Given the description of an element on the screen output the (x, y) to click on. 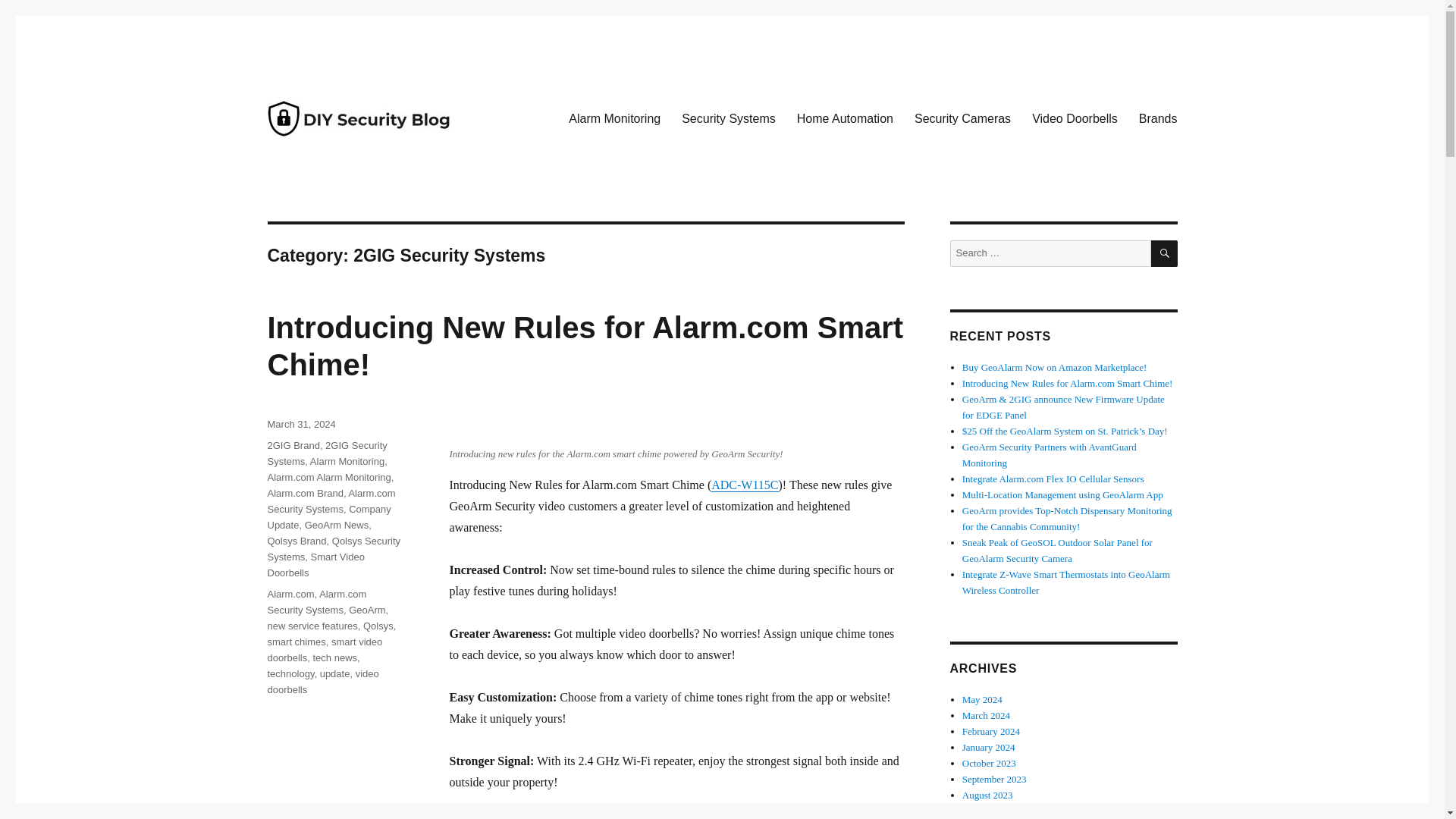
Video Doorbells (1075, 119)
Qolsys Security Systems (333, 548)
March 31, 2024 (300, 423)
Introducing New Rules for Alarm.com Smart Chime! (584, 346)
Brands (1158, 119)
GeoArm News (336, 524)
smart chimes (295, 641)
update (335, 673)
ADC-W115C (744, 484)
Home Automation (845, 119)
Alarm.com Alarm Monitoring (328, 477)
Company Update (328, 516)
GeoArm (367, 609)
smart video doorbells (323, 649)
Security Cameras (963, 119)
